Given the description of an element on the screen output the (x, y) to click on. 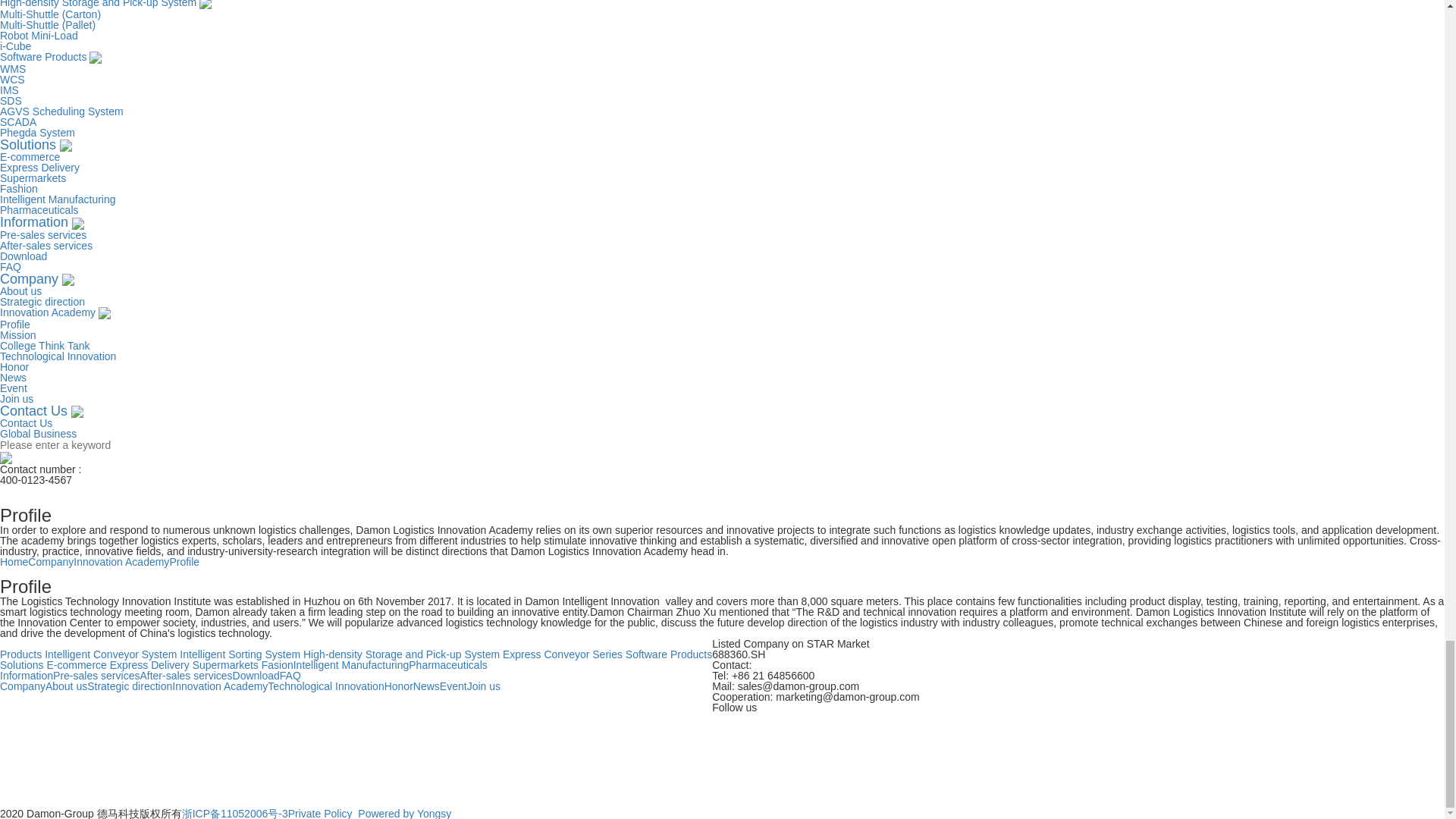
Private Policy (320, 813)
